Given the description of an element on the screen output the (x, y) to click on. 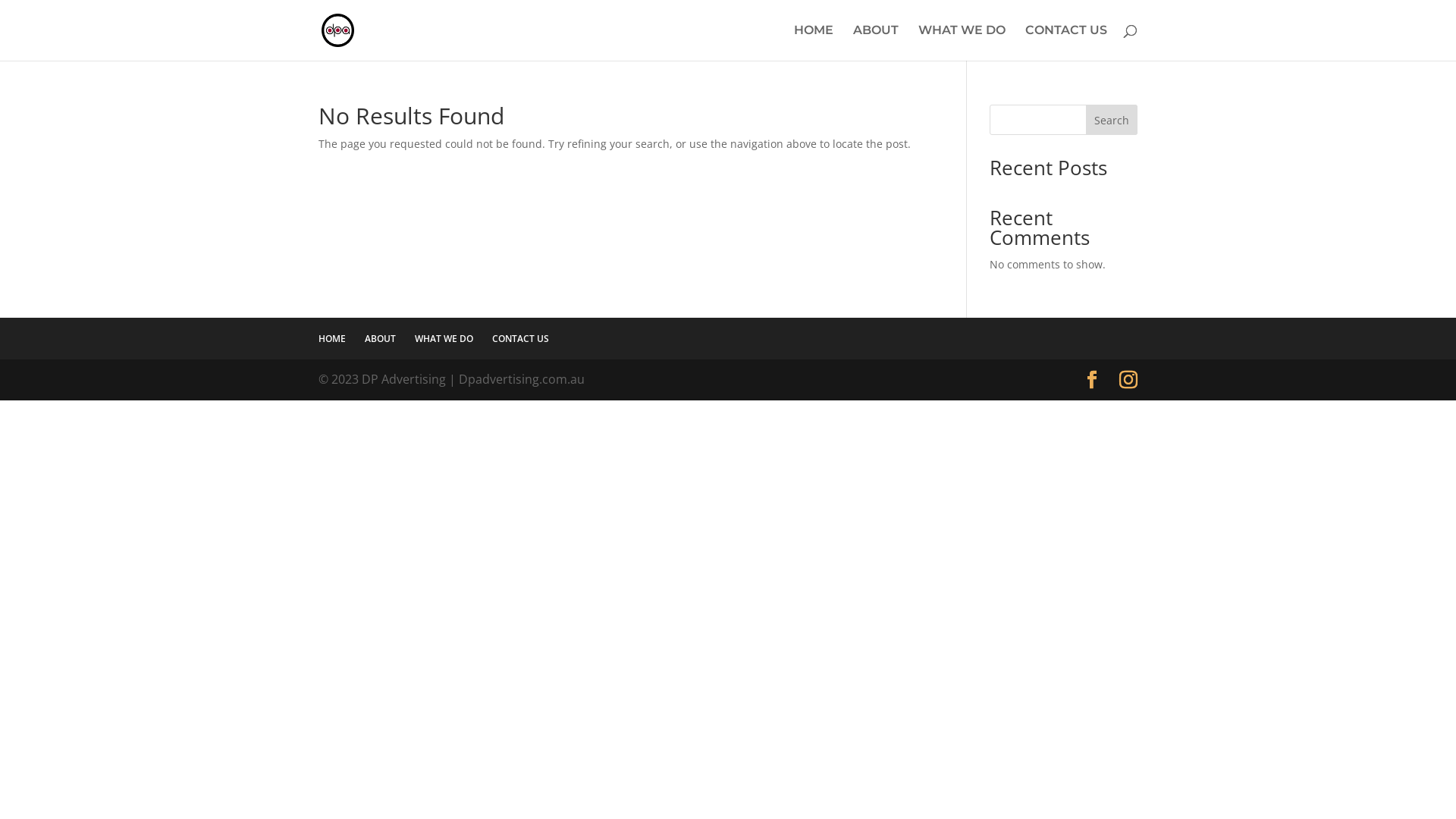
ABOUT Element type: text (875, 42)
HOME Element type: text (331, 338)
Search Element type: text (1111, 119)
CONTACT US Element type: text (520, 338)
WHAT WE DO Element type: text (961, 42)
HOME Element type: text (813, 42)
CONTACT US Element type: text (1066, 42)
ABOUT Element type: text (379, 338)
WHAT WE DO Element type: text (443, 338)
